Given the description of an element on the screen output the (x, y) to click on. 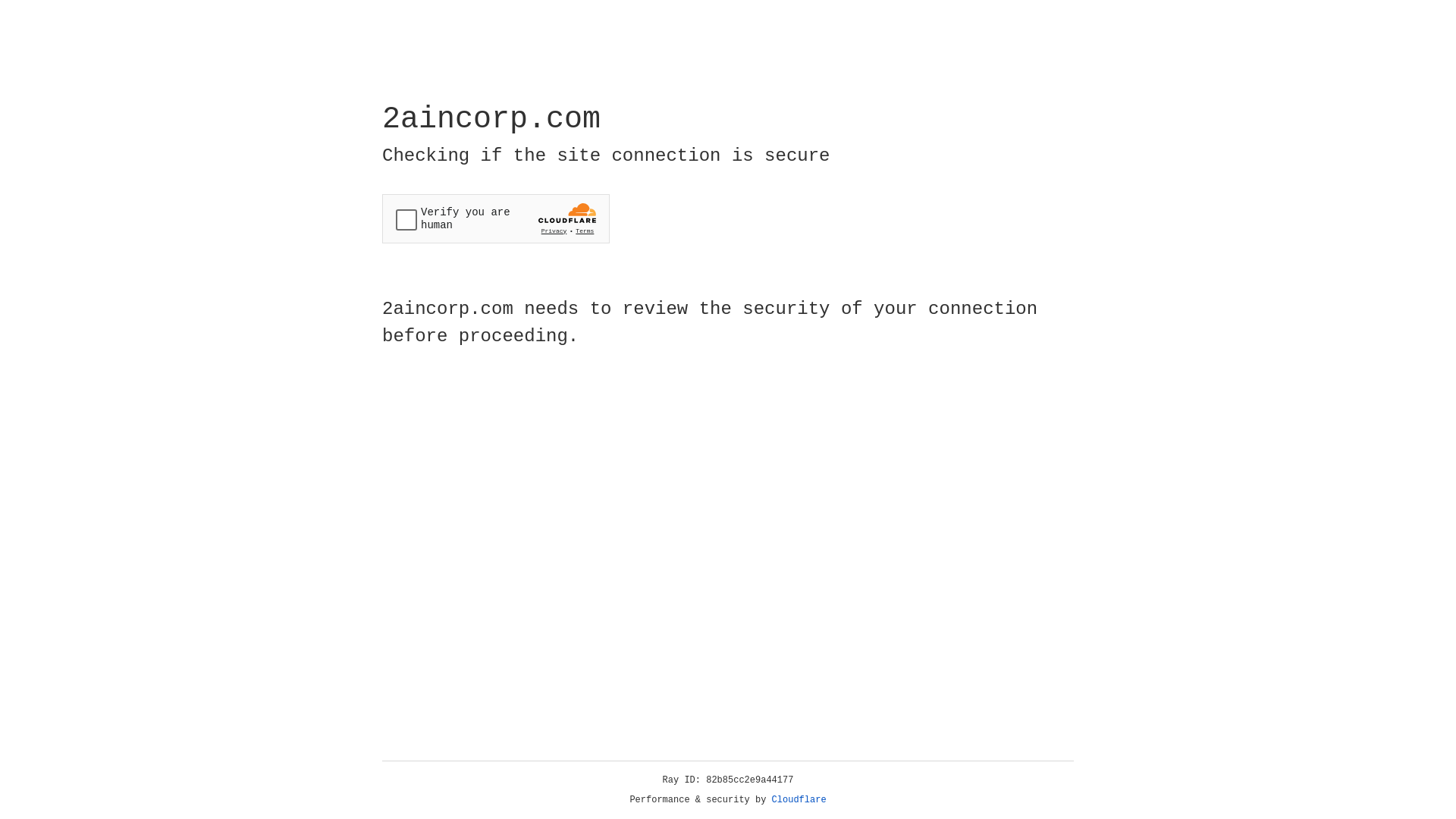
Cloudflare Element type: text (798, 799)
Widget containing a Cloudflare security challenge Element type: hover (495, 218)
